Given the description of an element on the screen output the (x, y) to click on. 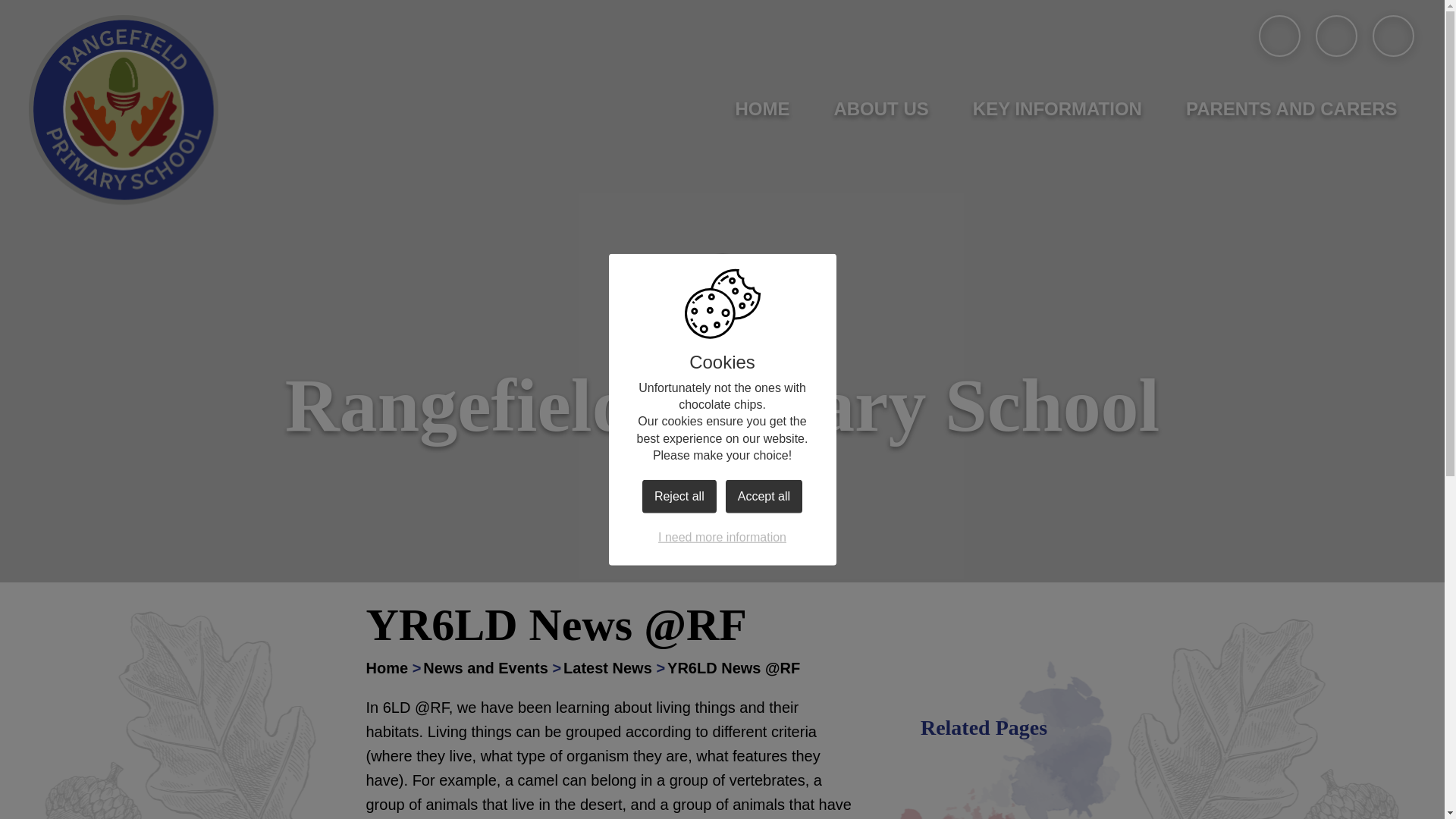
PARENTS AND CARERS (1291, 108)
ABOUT US (880, 108)
Home Page (123, 109)
HOME (762, 108)
KEY INFORMATION (1057, 108)
